Given the description of an element on the screen output the (x, y) to click on. 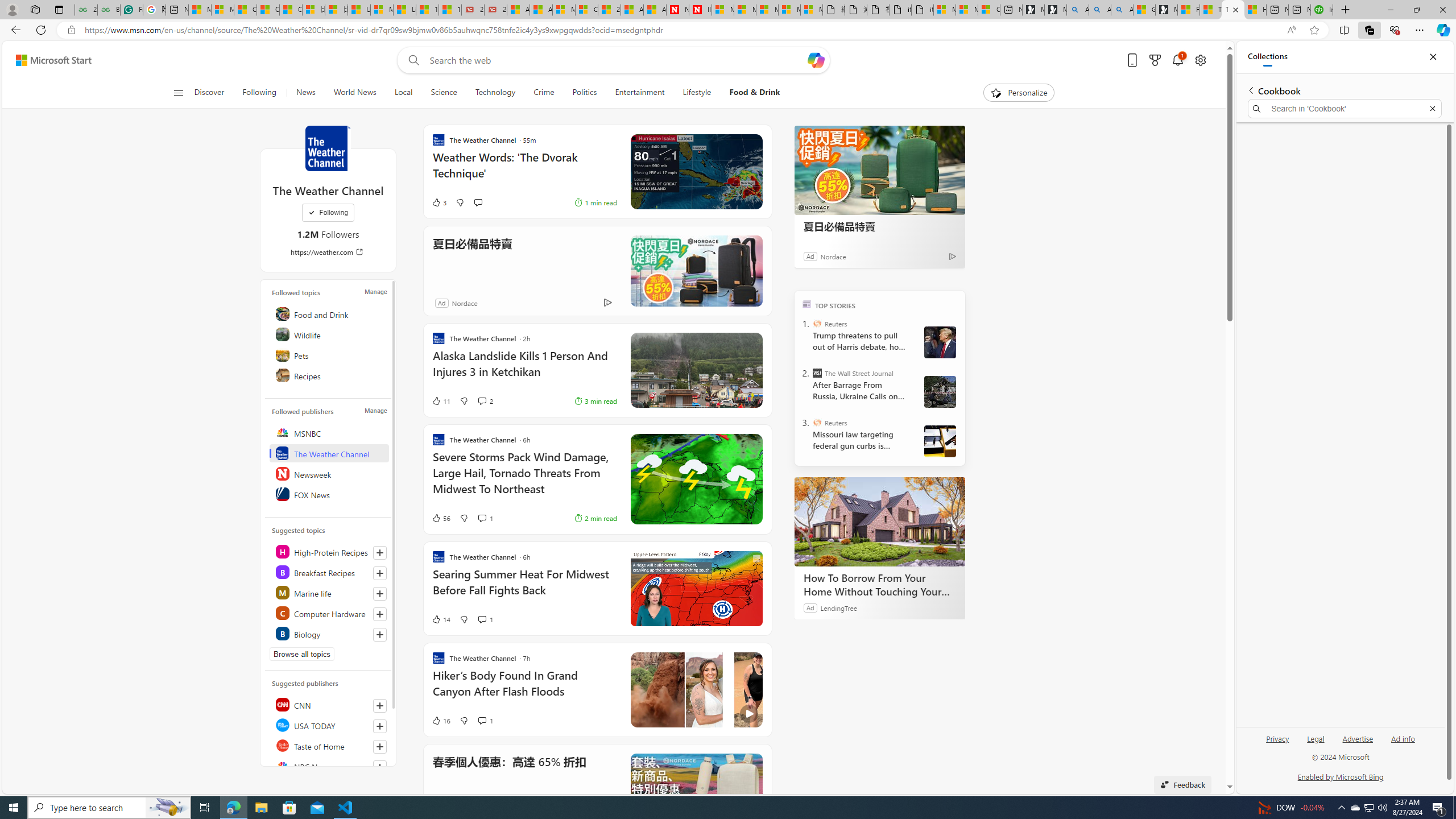
Follow this topic (379, 634)
21 Movies That Outdid the Books They Were Based On (495, 9)
